Given the description of an element on the screen output the (x, y) to click on. 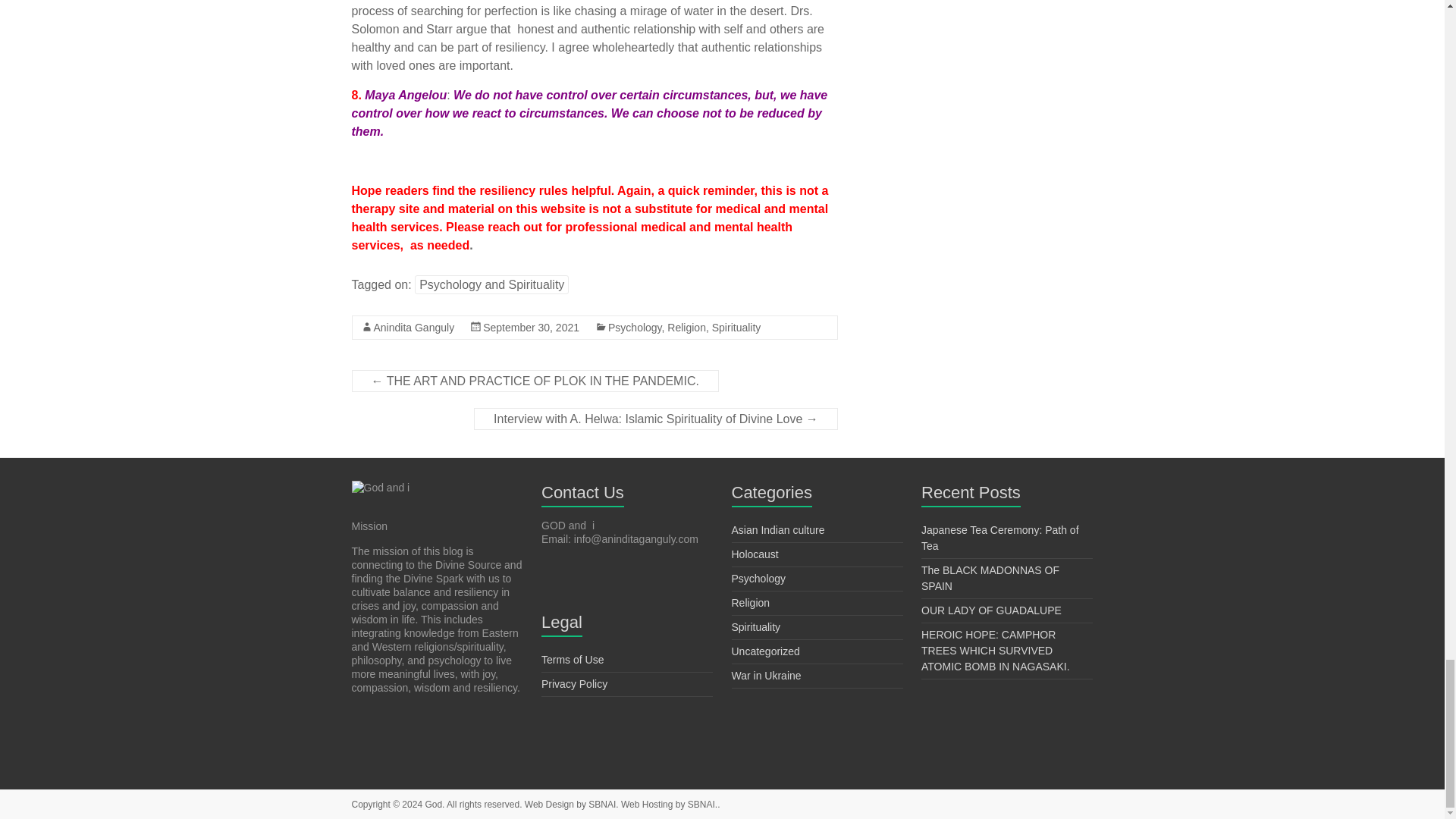
Asian Indian culture (777, 530)
8:55 pm (531, 327)
Web Design (547, 804)
Psychology and Spirituality (491, 284)
Psychology (758, 578)
Terms of Use (572, 659)
Holocaust (753, 553)
Privacy Policy (574, 684)
Spirituality (736, 327)
Religion (686, 327)
God (433, 804)
Web Design (645, 804)
September 30, 2021 (531, 327)
Anindita Ganguly (413, 327)
Psychology (635, 327)
